Given the description of an element on the screen output the (x, y) to click on. 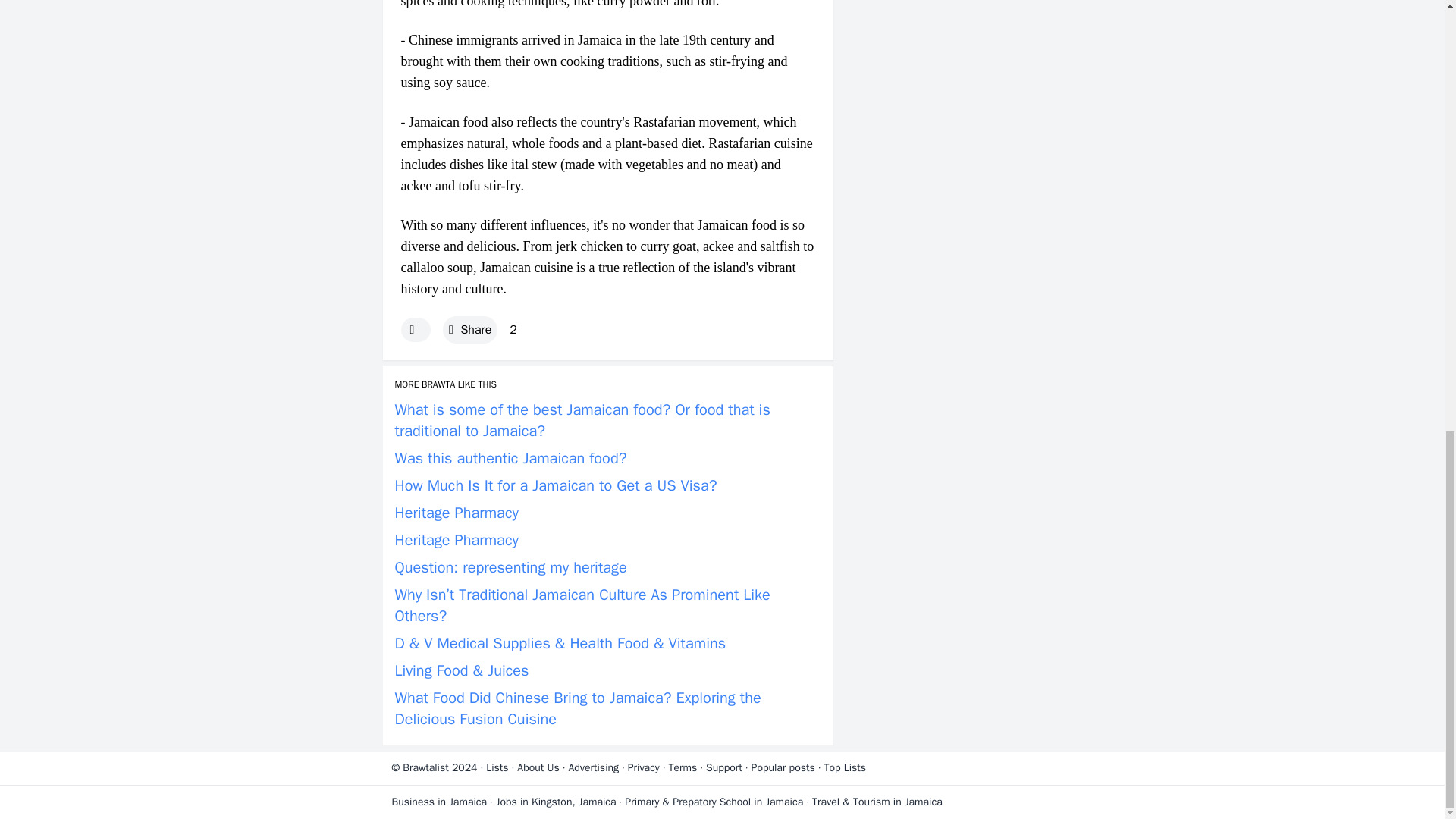
Question: representing my heritage (510, 567)
Jobs in Kingston, Jamaica (555, 801)
Heritage Pharmacy (456, 539)
Privacy (643, 767)
Share (469, 330)
Business in Jamaica (438, 801)
Top Lists (845, 767)
How Much Is It for a Jamaican to Get a US Visa? (555, 485)
Like (414, 329)
Advertising (592, 767)
Was this authentic Jamaican food? (510, 457)
Terms (682, 767)
